Given the description of an element on the screen output the (x, y) to click on. 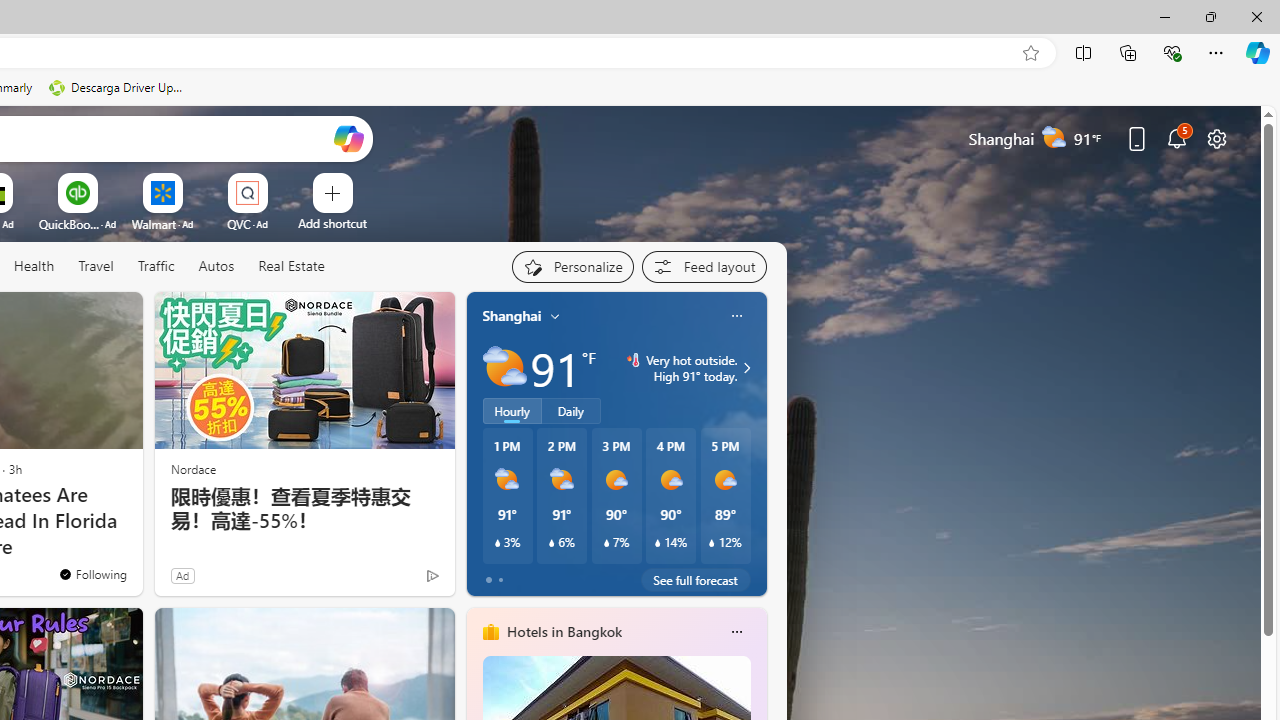
Class: weather-arrow-glyph (746, 367)
Class: weather-current-precipitation-glyph (712, 543)
hotels-header-icon (490, 632)
Traffic (155, 265)
Add a site (332, 223)
Real Estate (290, 267)
Feed settings (703, 266)
Travel (95, 267)
